Given the description of an element on the screen output the (x, y) to click on. 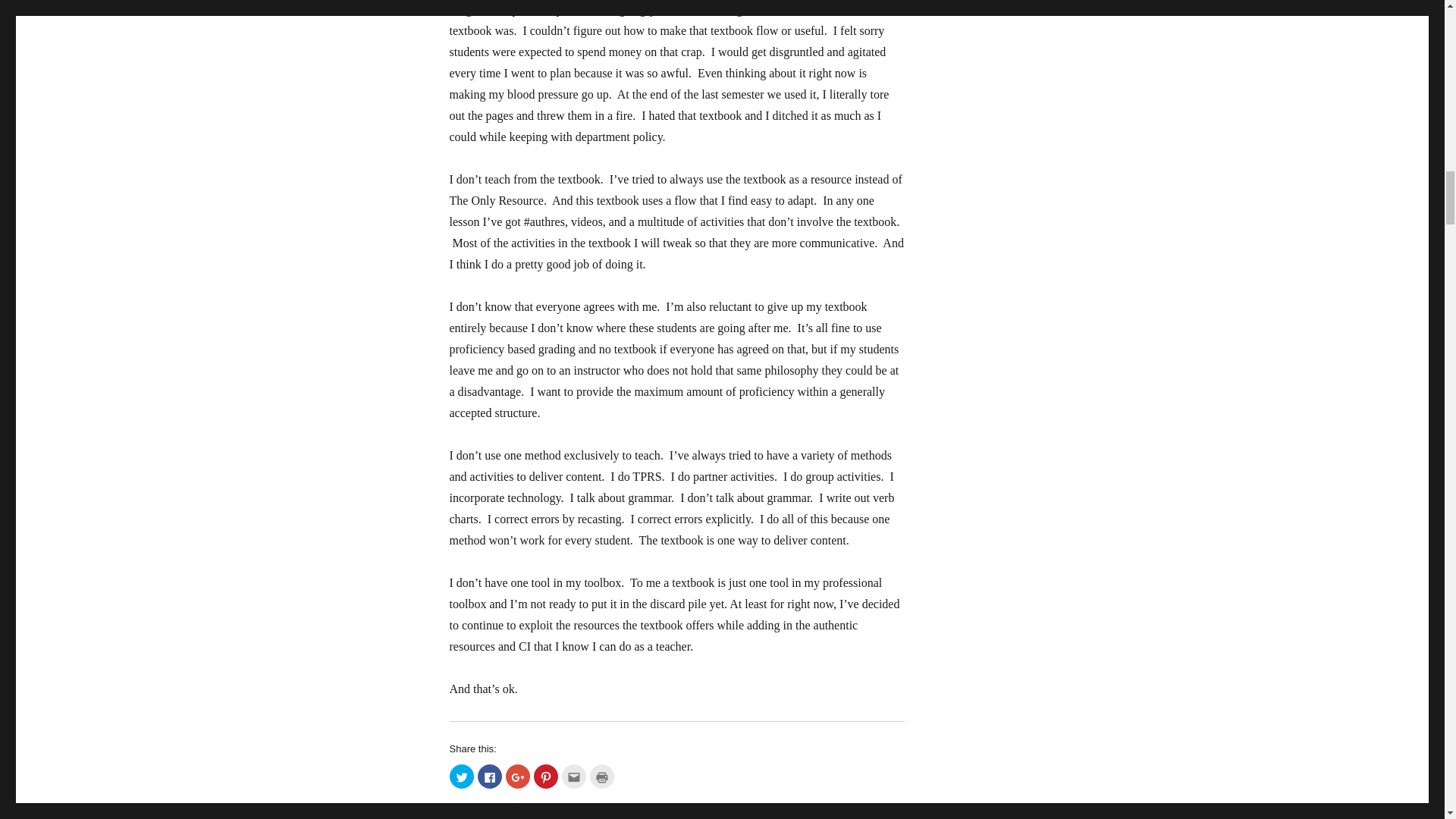
Click to share on Pinterest (545, 776)
Click to print (601, 776)
Click to share on Facebook (489, 776)
Click to share on Twitter (460, 776)
Click to email this to a friend (572, 776)
